Given the description of an element on the screen output the (x, y) to click on. 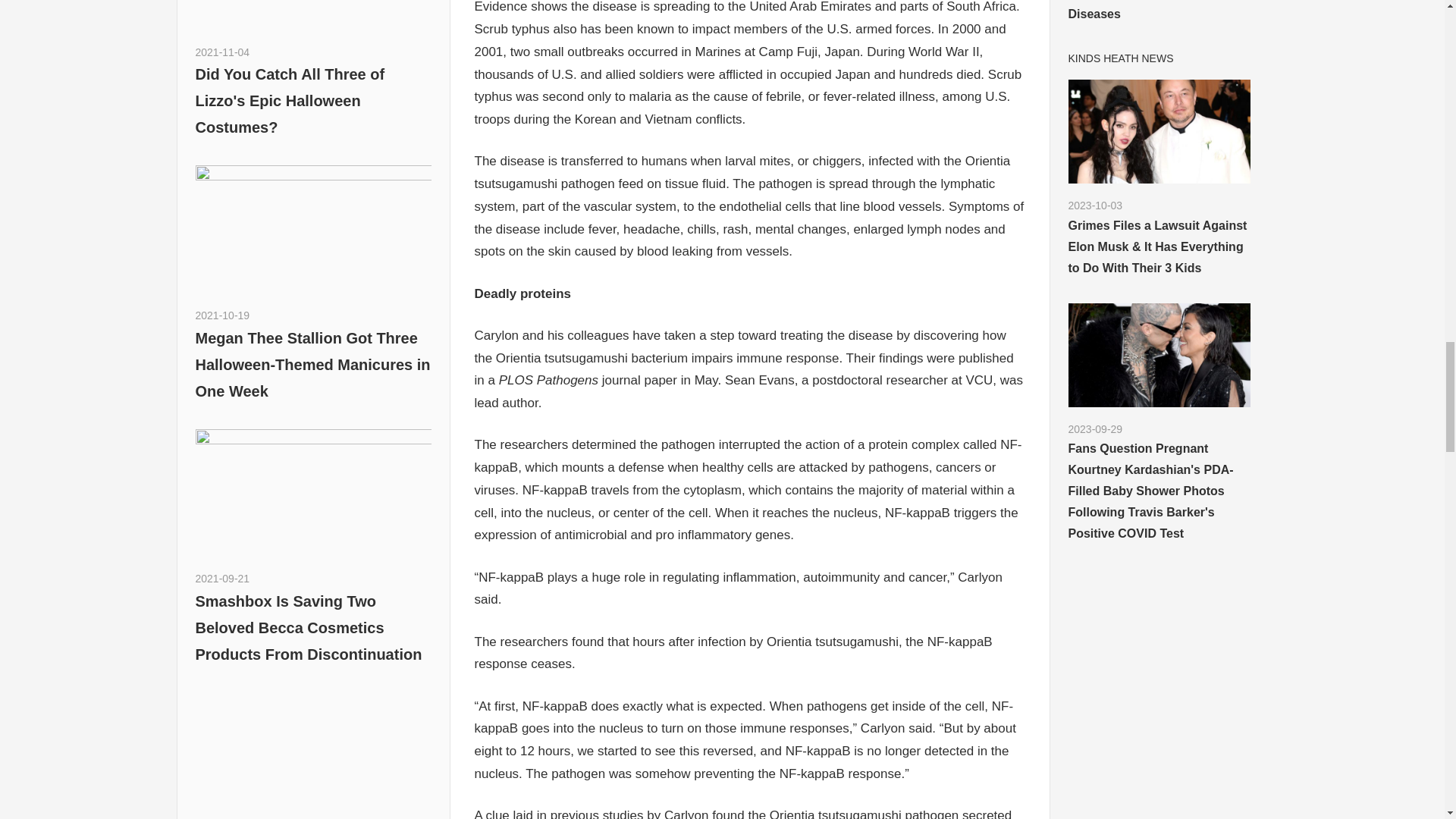
19:24 (222, 578)
13:48 (222, 51)
15:01 (222, 315)
